Given the description of an element on the screen output the (x, y) to click on. 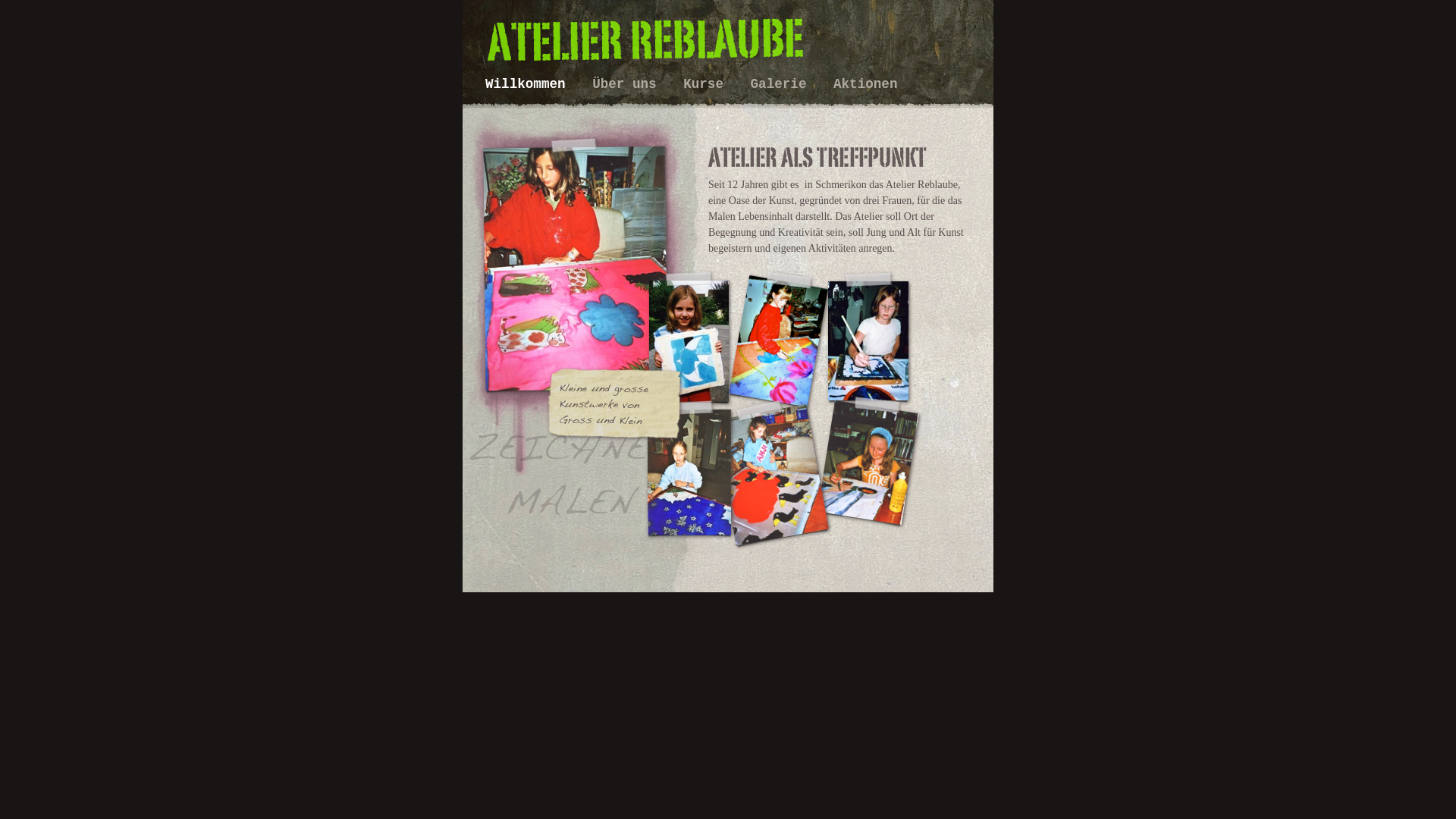
Galerie Element type: text (782, 83)
Willkommen Element type: text (529, 83)
Kurse Element type: text (707, 83)
Aktionen Element type: text (865, 83)
